Given the description of an element on the screen output the (x, y) to click on. 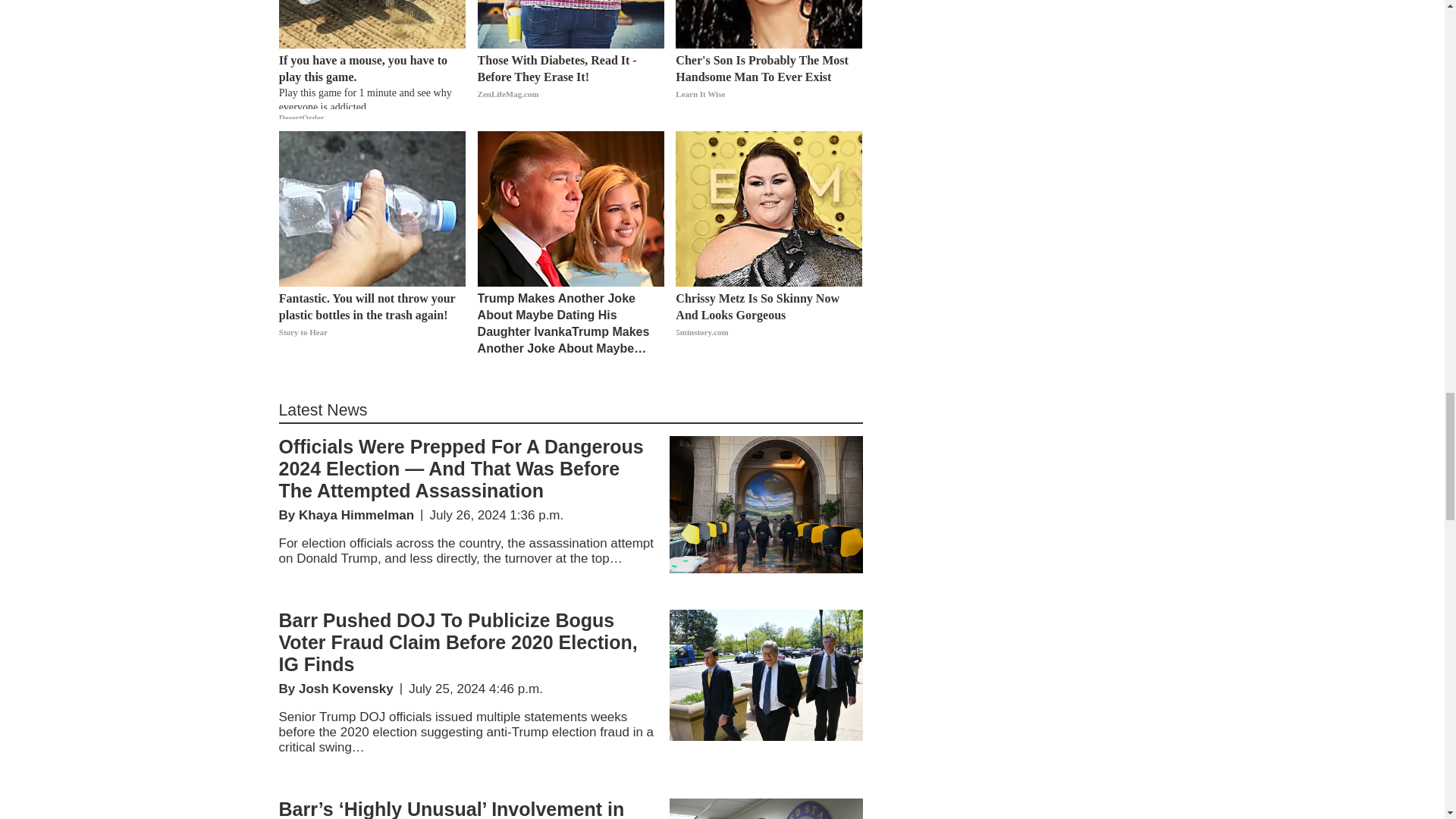
Cher's Son Is Probably The Most Handsome Man To Ever Exist (768, 85)
Those With Diabetes, Read It - Before They Erase It! (570, 85)
